Given the description of an element on the screen output the (x, y) to click on. 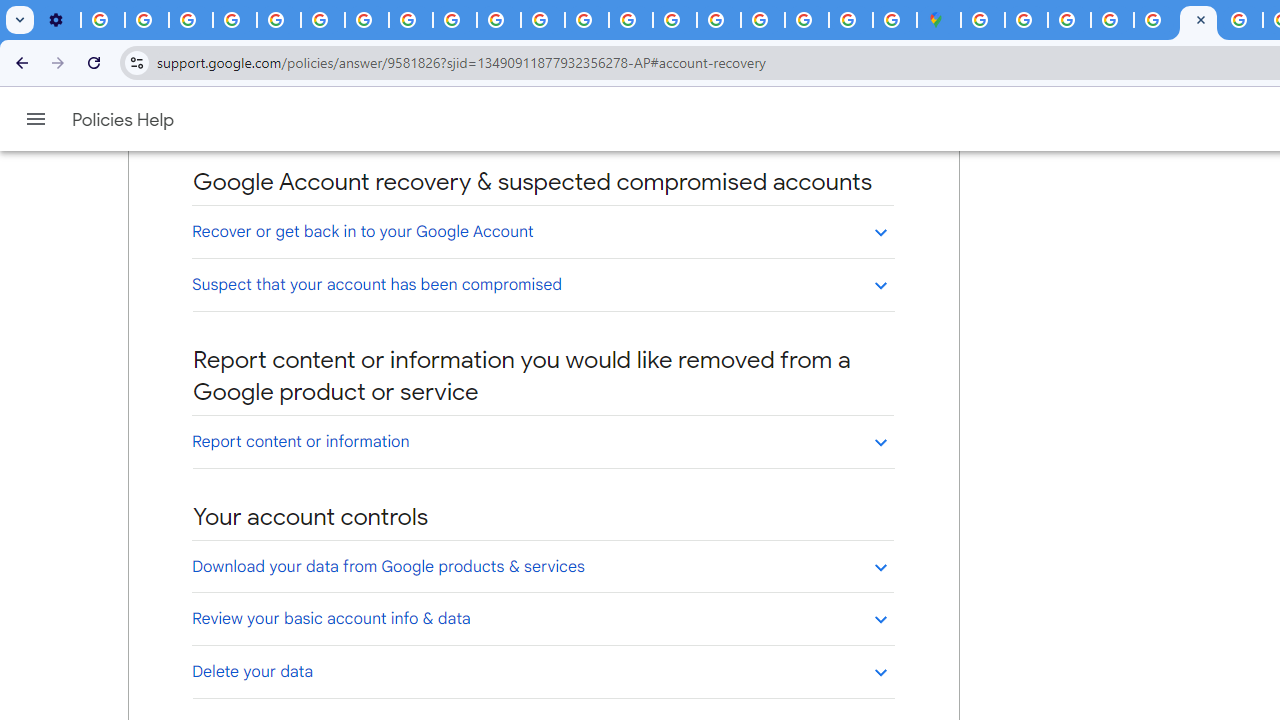
Recover or get back in to your Google Account (542, 231)
